Given the description of an element on the screen output the (x, y) to click on. 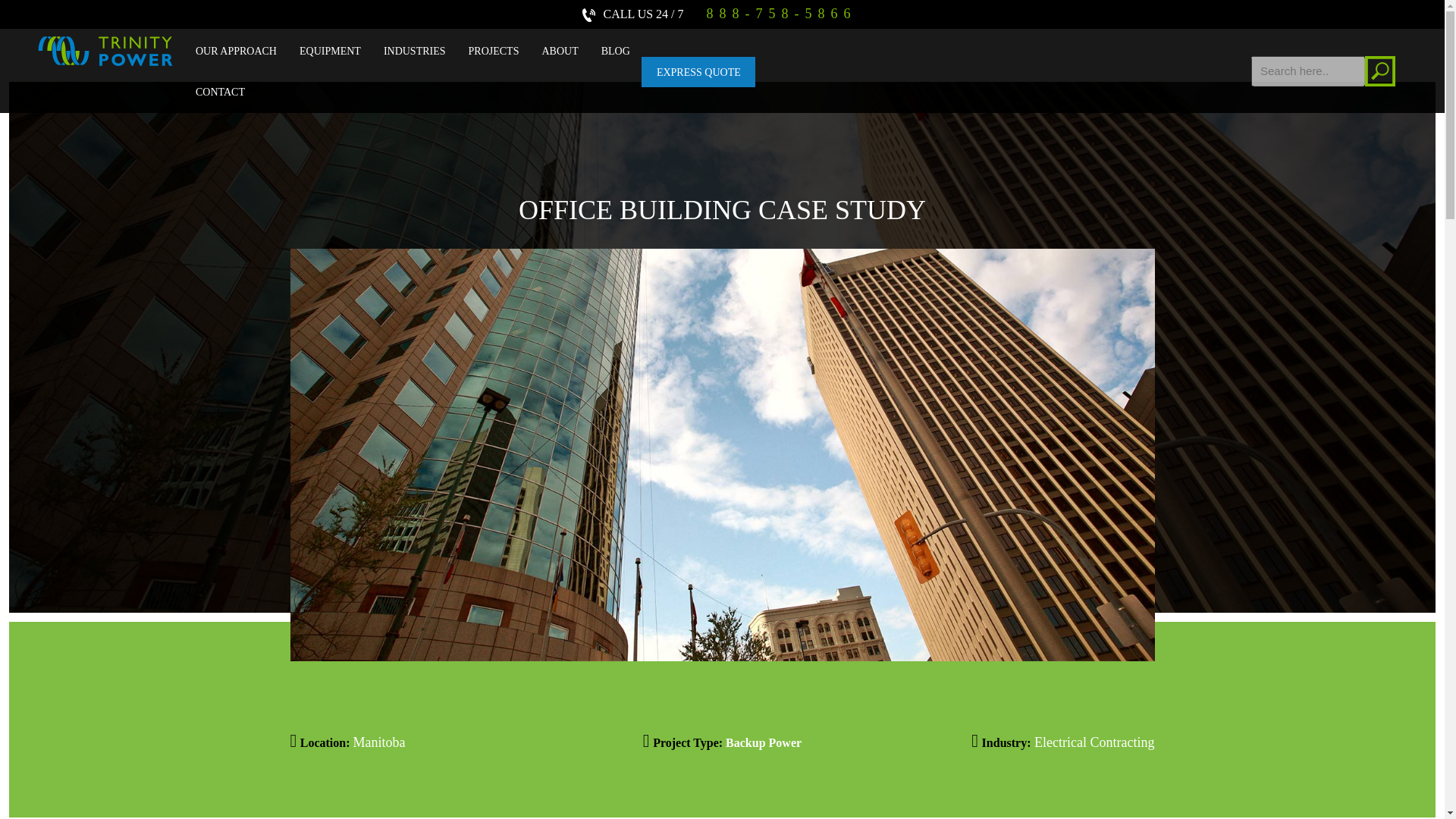
OUR APPROACH (236, 51)
Equipment (330, 51)
Projects (494, 51)
About (559, 51)
Contact (220, 92)
888-758-5866 (772, 14)
Industries (414, 51)
Blog (615, 51)
